Given the description of an element on the screen output the (x, y) to click on. 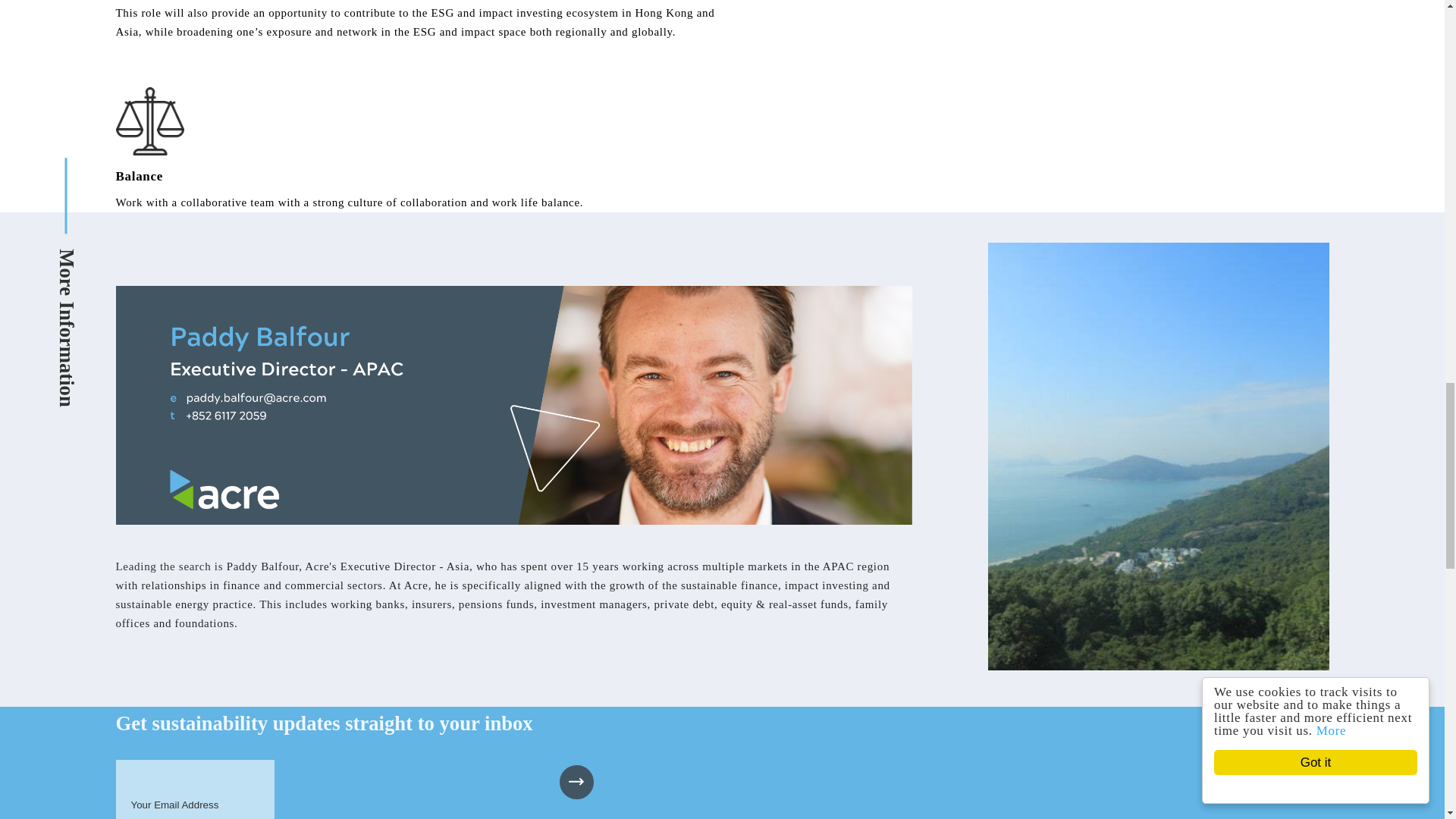
submit (576, 781)
